Given the description of an element on the screen output the (x, y) to click on. 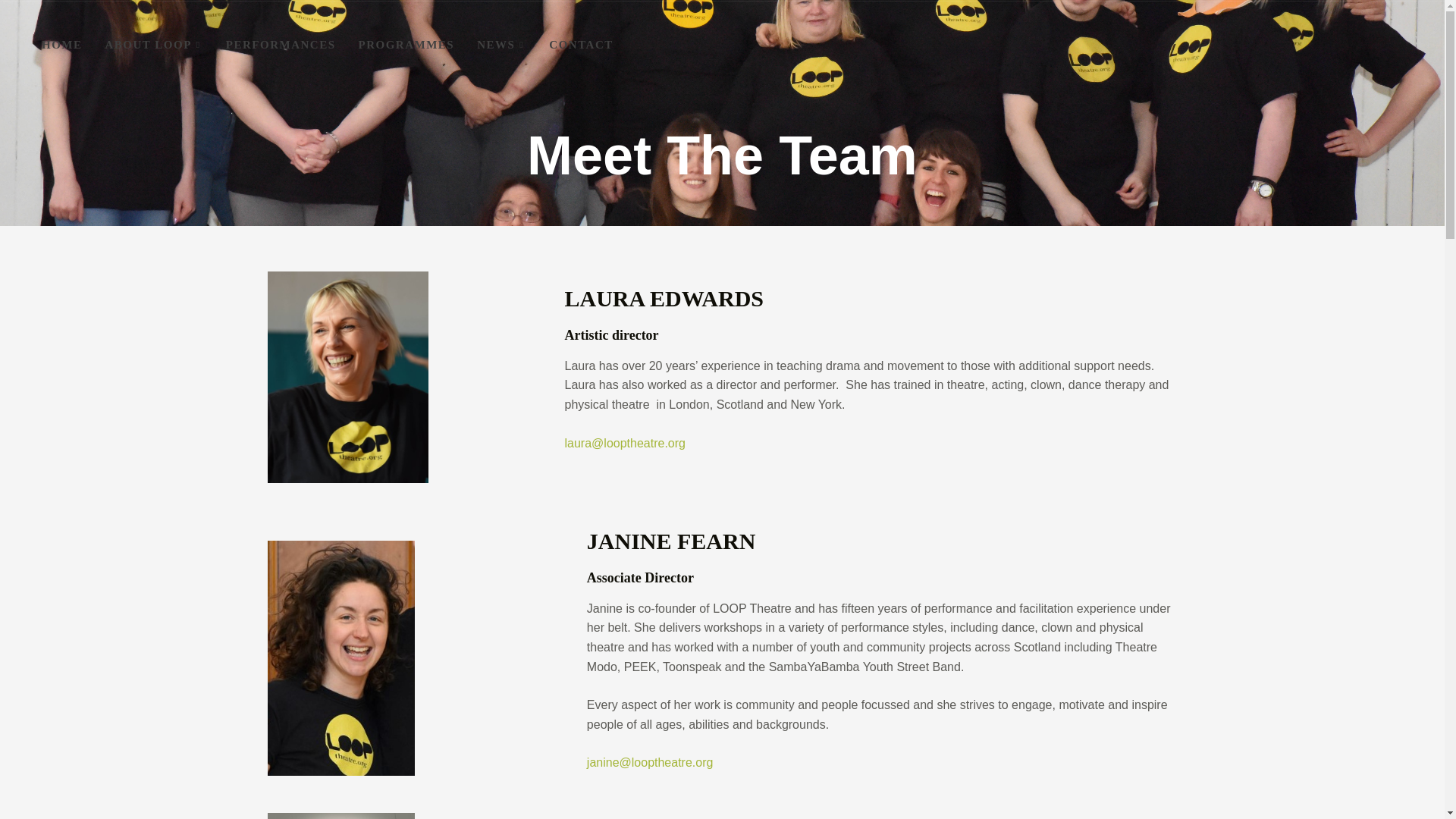
PERFORMANCES (280, 44)
PROGRAMMES (406, 44)
ABOUT LOOP (154, 44)
CONTACT (580, 44)
NEWS (501, 44)
